Given the description of an element on the screen output the (x, y) to click on. 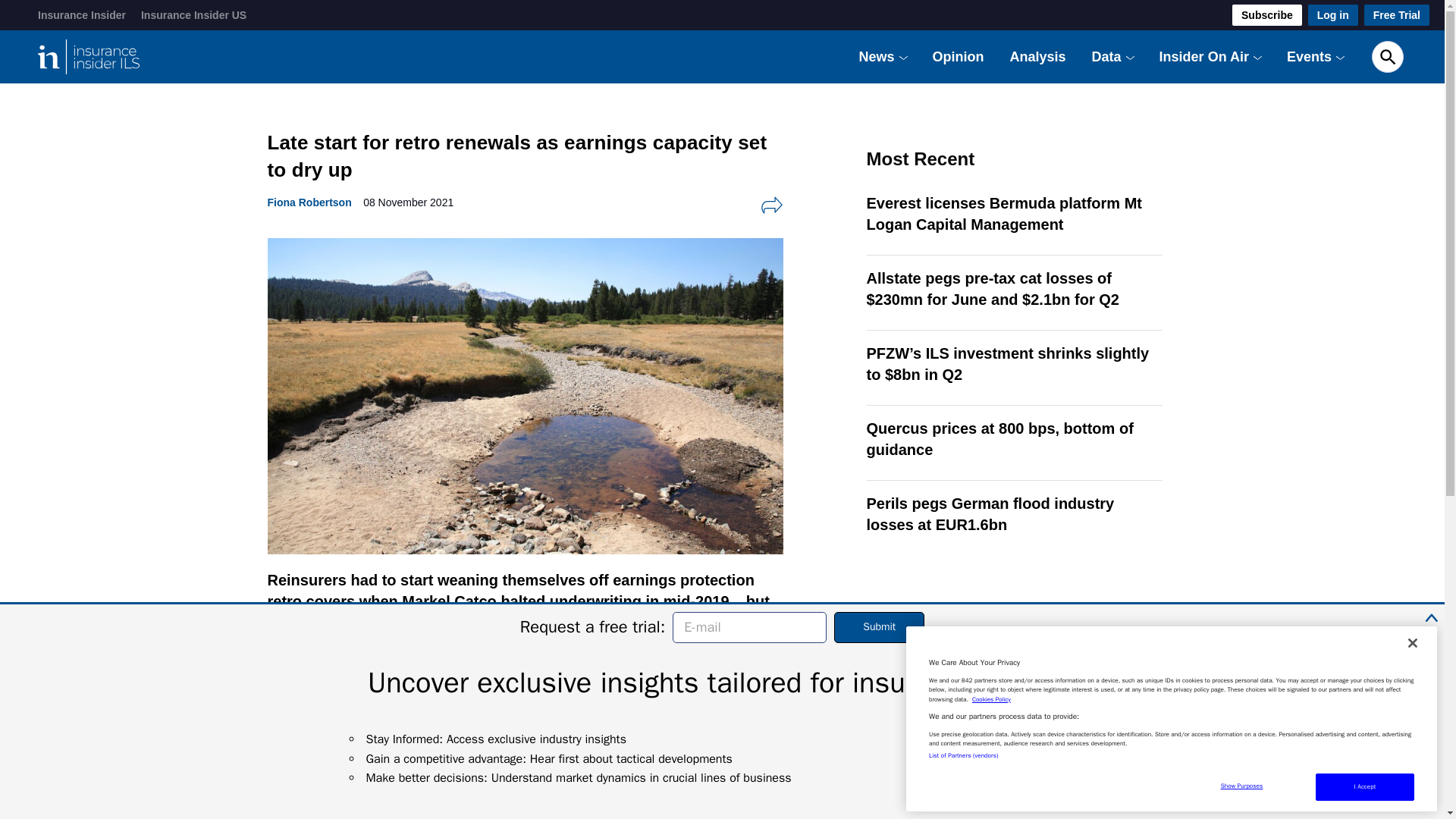
Subscribe (1266, 14)
News (877, 56)
Insurance Insider (81, 14)
Insurance Insider US (193, 14)
Opinion (958, 56)
Submit (879, 626)
Share (771, 205)
Analysis (1037, 56)
Free Trial (1396, 14)
Log in (1332, 14)
